Given the description of an element on the screen output the (x, y) to click on. 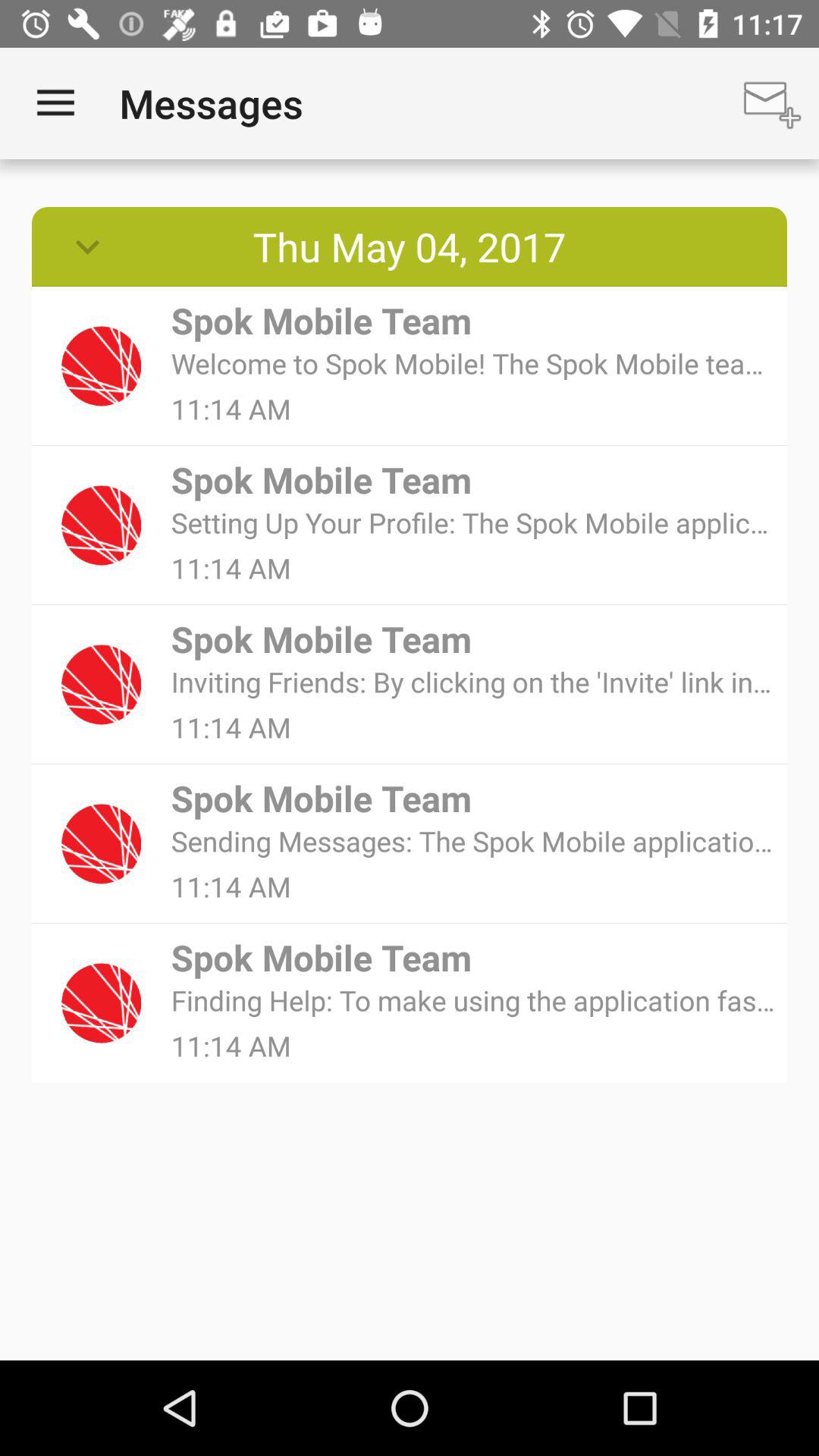
click the item above 11:14 am icon (473, 840)
